Given the description of an element on the screen output the (x, y) to click on. 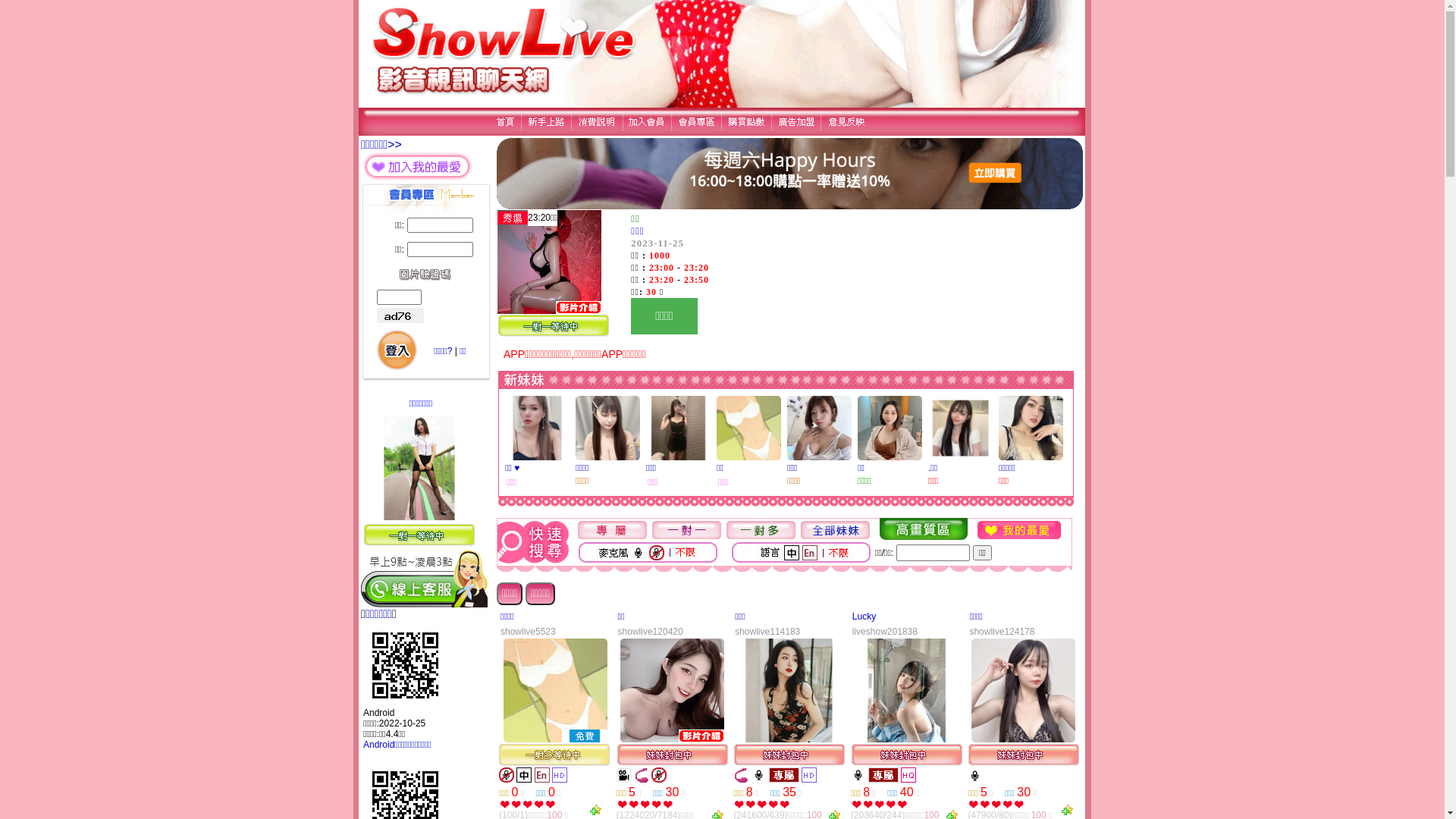
Lucky Element type: text (863, 616)
English Element type: hover (541, 774)
